Given the description of an element on the screen output the (x, y) to click on. 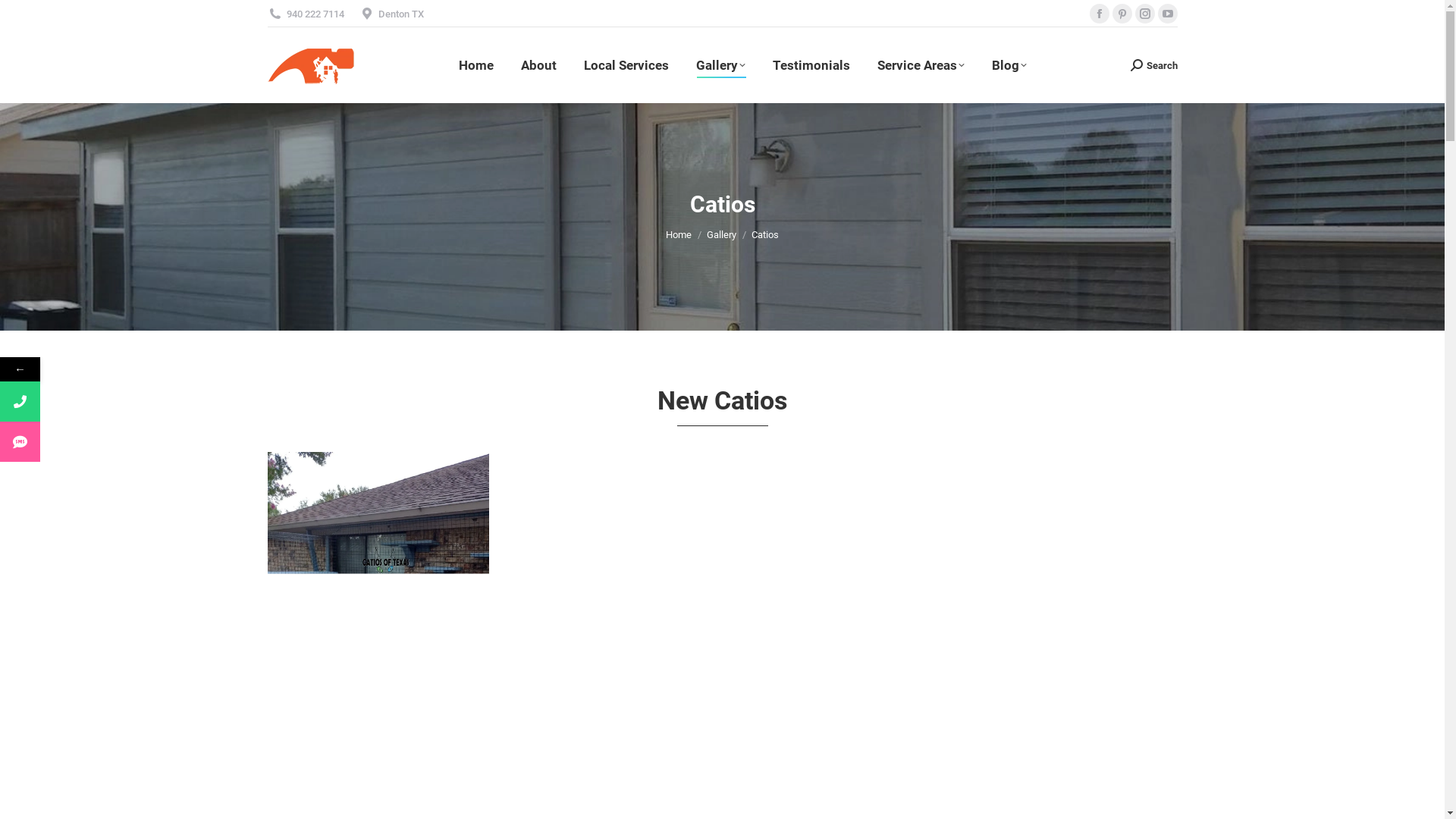
Gallery Element type: text (721, 234)
Search Element type: text (1152, 65)
Instagram page opens in new window Element type: text (1144, 13)
Home Element type: text (678, 234)
About Element type: text (538, 64)
Blog Element type: text (1008, 64)
Phone Element type: text (92, 401)
YouTube page opens in new window Element type: text (1166, 13)
Home Element type: text (475, 64)
Gallery Element type: text (720, 64)
Service Areas Element type: text (920, 64)
SMS Element type: text (92, 441)
Local Services Element type: text (625, 64)
Pinterest page opens in new window Element type: text (1121, 13)
Testimonials Element type: text (811, 64)
Go! Element type: text (23, 16)
Facebook page opens in new window Element type: text (1098, 13)
